Given the description of an element on the screen output the (x, y) to click on. 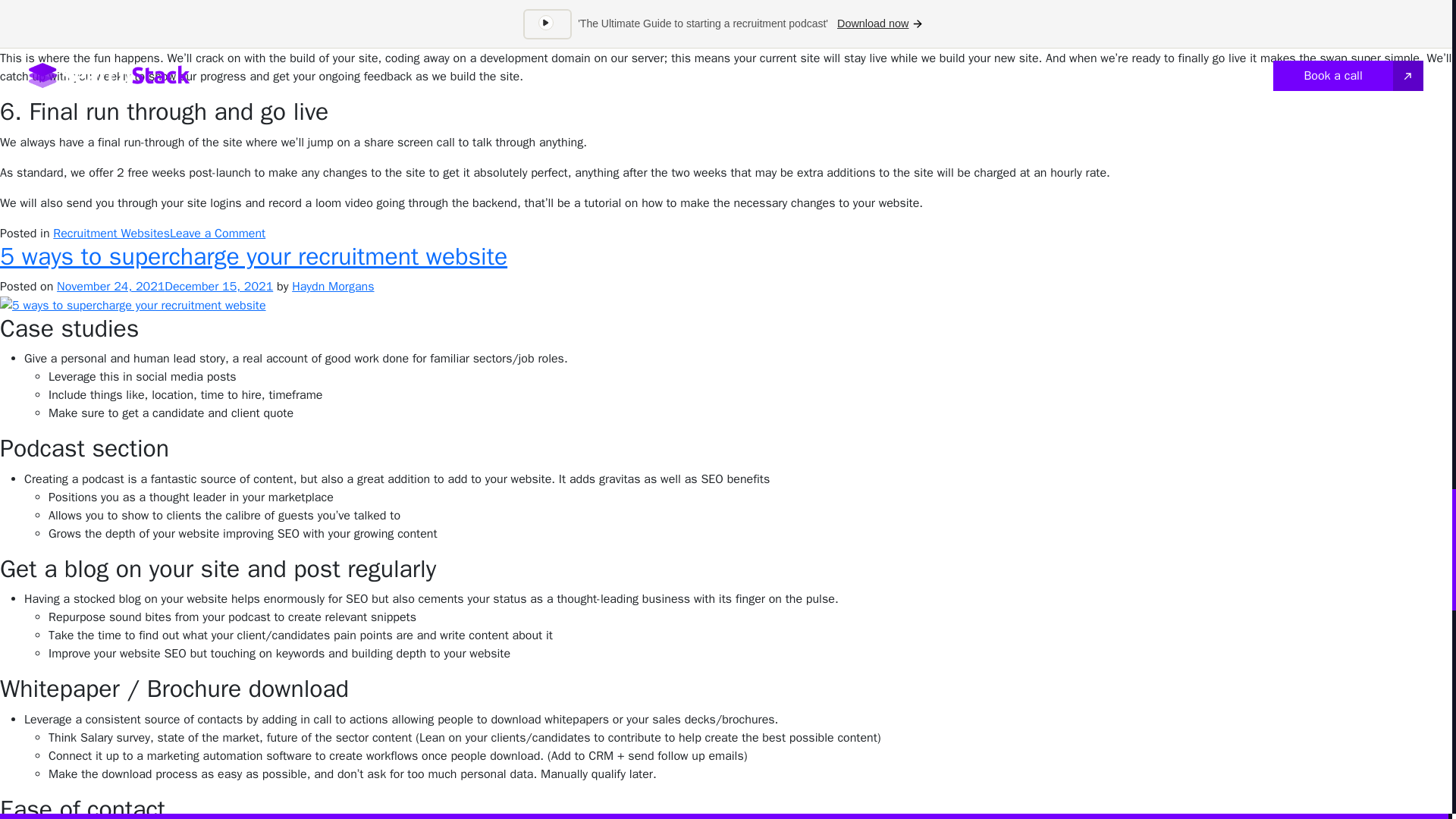
5 ways to supercharge your recruitment website (253, 255)
Haydn Morgans (333, 286)
November 24, 2021December 15, 2021 (164, 286)
Recruitment Websites (111, 233)
